Given the description of an element on the screen output the (x, y) to click on. 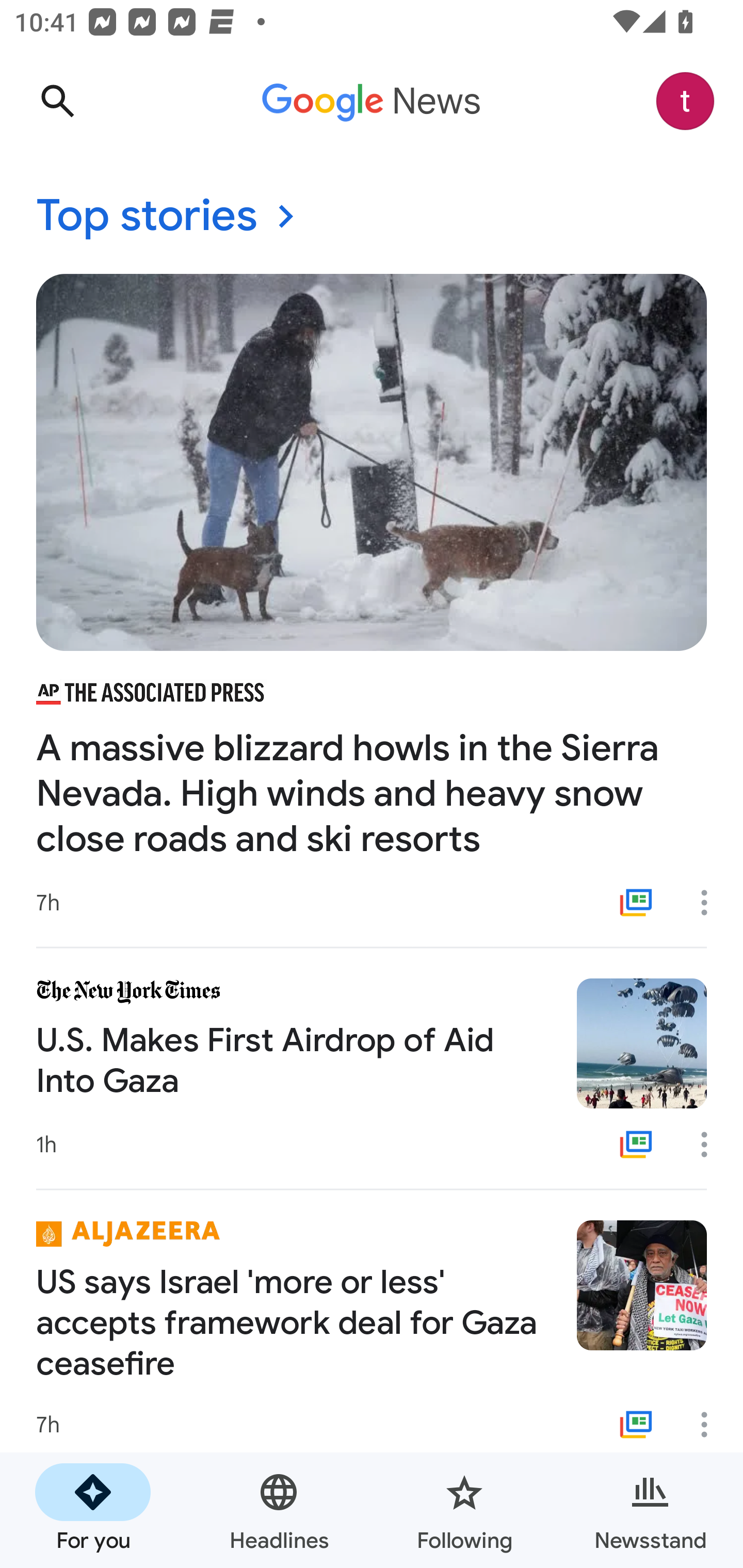
Search (57, 100)
Top stories (371, 216)
More options (711, 902)
More options (711, 1144)
More options (711, 1424)
For you (92, 1509)
Headlines (278, 1509)
Following (464, 1509)
Newsstand (650, 1509)
